Given the description of an element on the screen output the (x, y) to click on. 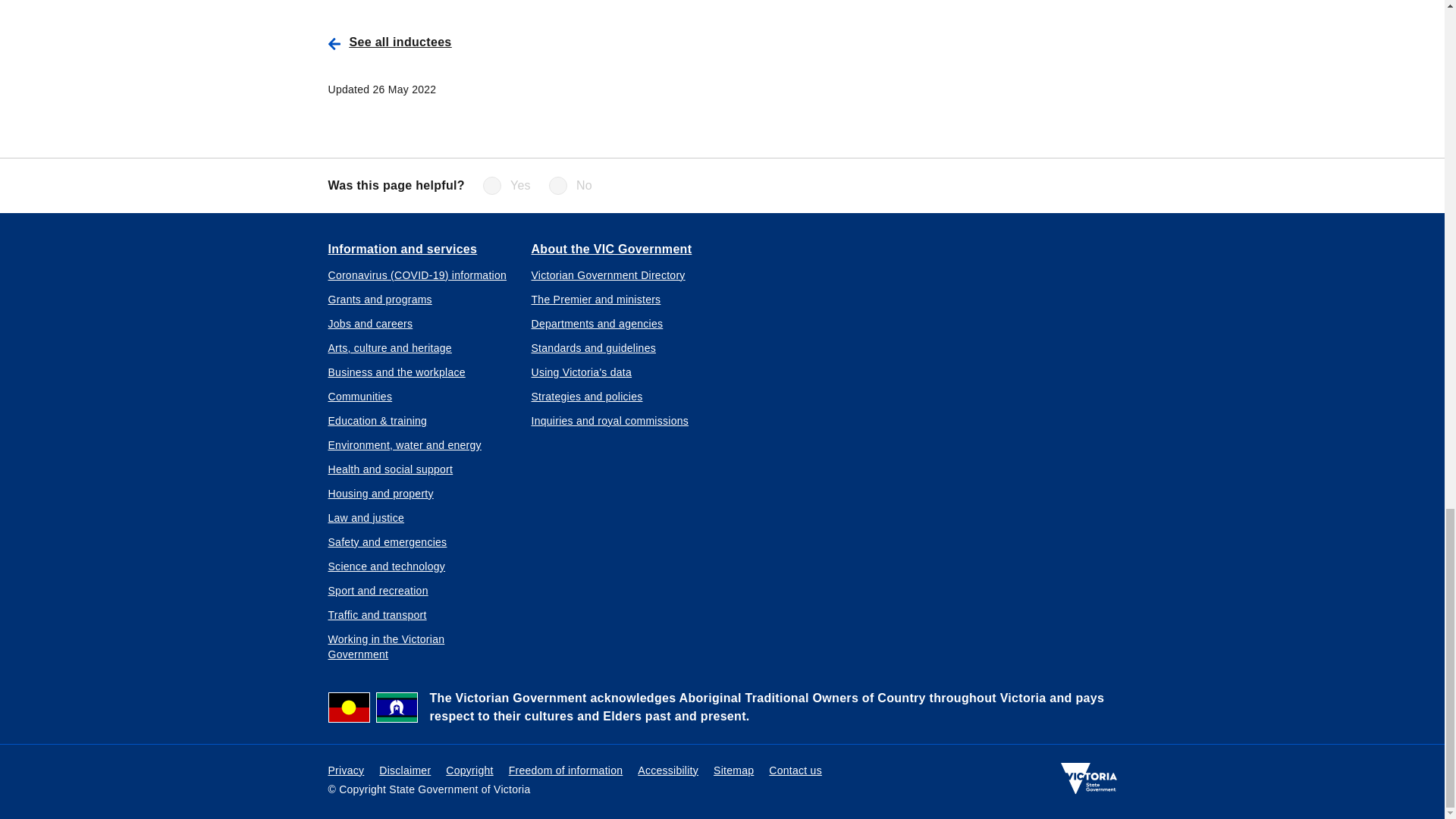
Victorian Government Directory (607, 273)
Using Victoria's data (581, 371)
Standards and guidelines (593, 346)
Information and services (402, 248)
See all inductees (563, 42)
Privacy (345, 770)
Grants and programs (378, 298)
Housing and property (379, 492)
The Premier and ministers (596, 298)
Environment, water and energy (403, 444)
